Given the description of an element on the screen output the (x, y) to click on. 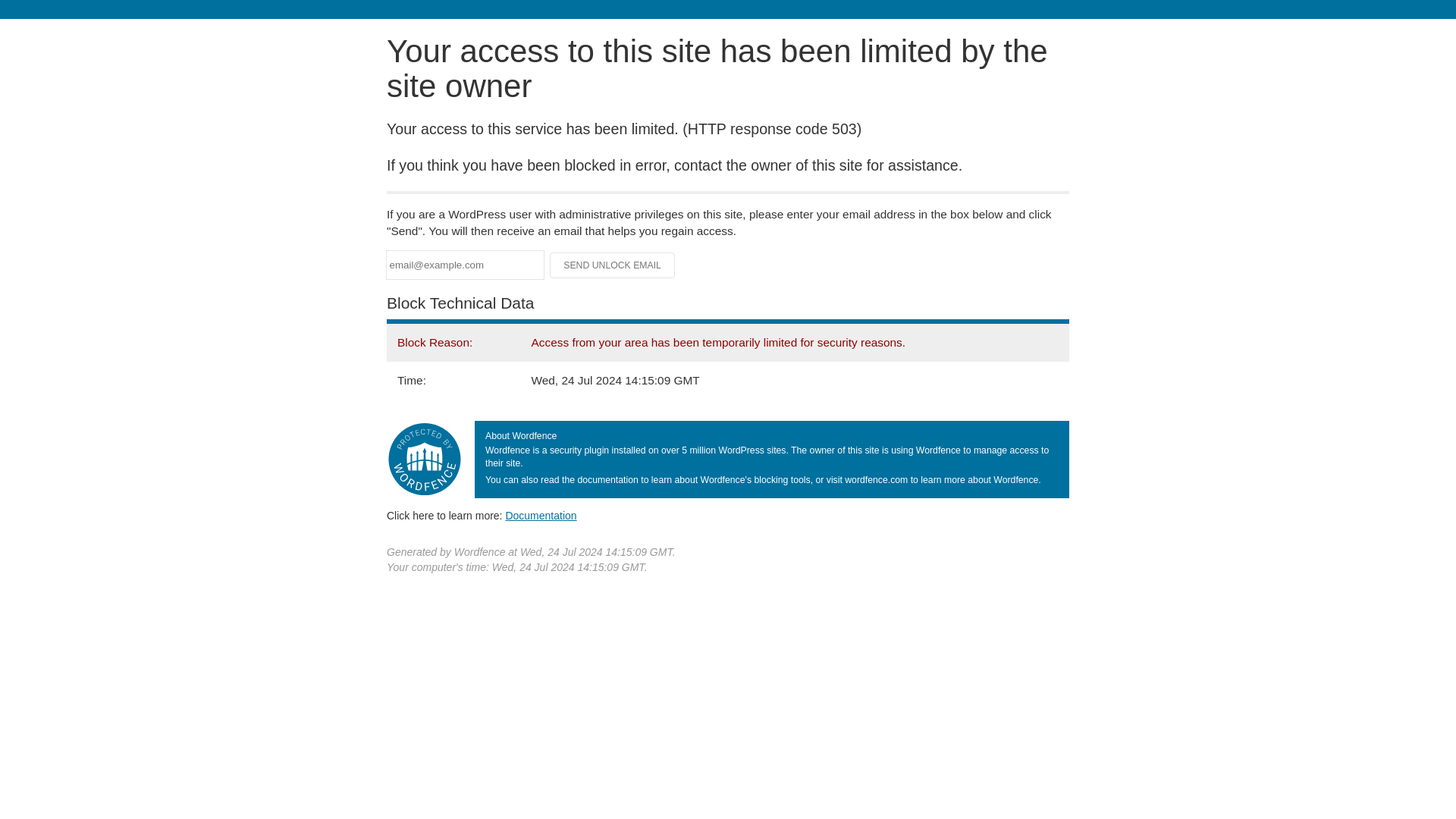
Documentation (540, 515)
Send Unlock Email (612, 265)
Send Unlock Email (612, 265)
